Given the description of an element on the screen output the (x, y) to click on. 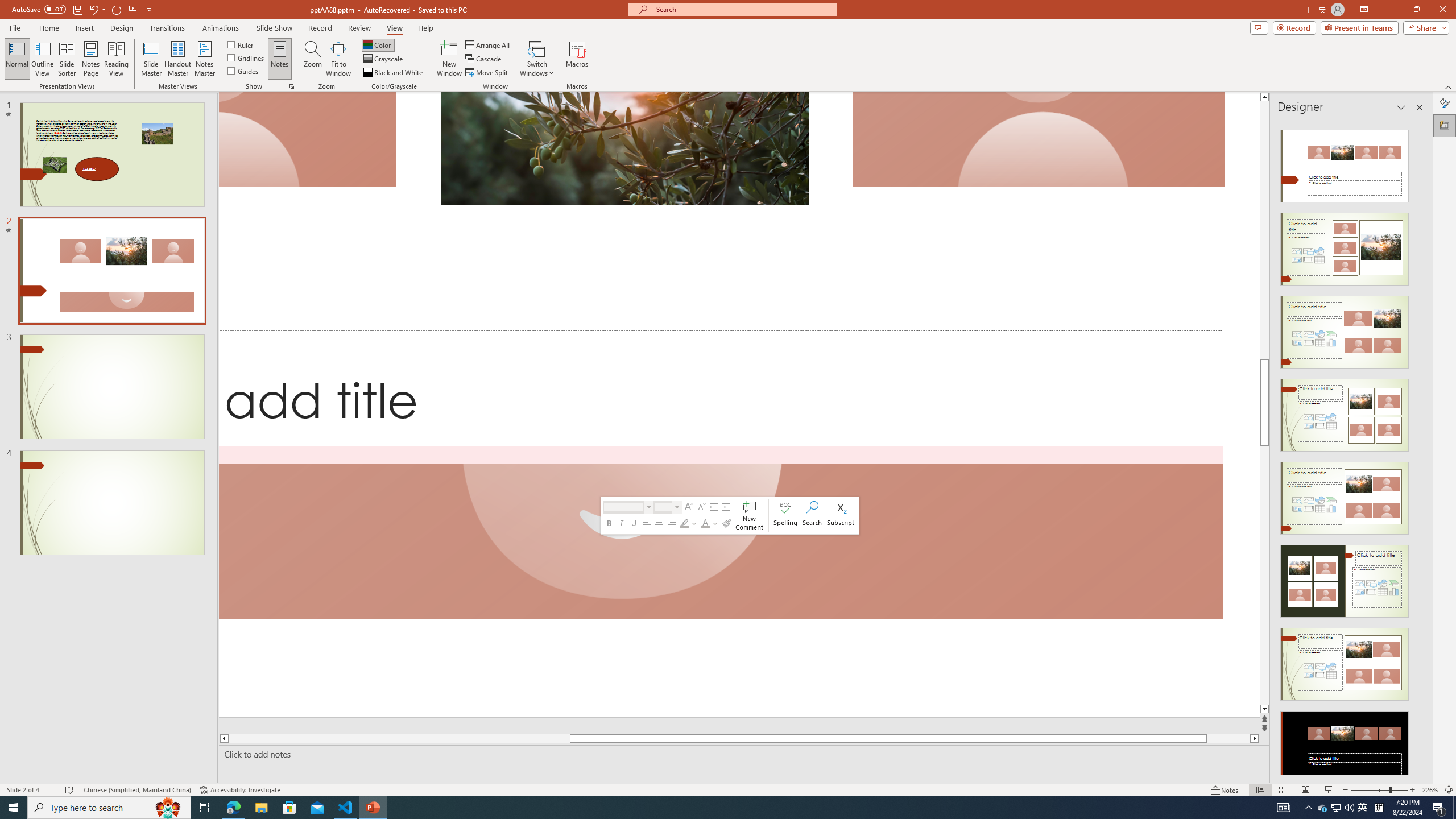
Handout Master (177, 58)
Grid Settings... (291, 85)
Camera 7, No camera detected. (1038, 139)
Color (377, 44)
Arrange All (488, 44)
